Given the description of an element on the screen output the (x, y) to click on. 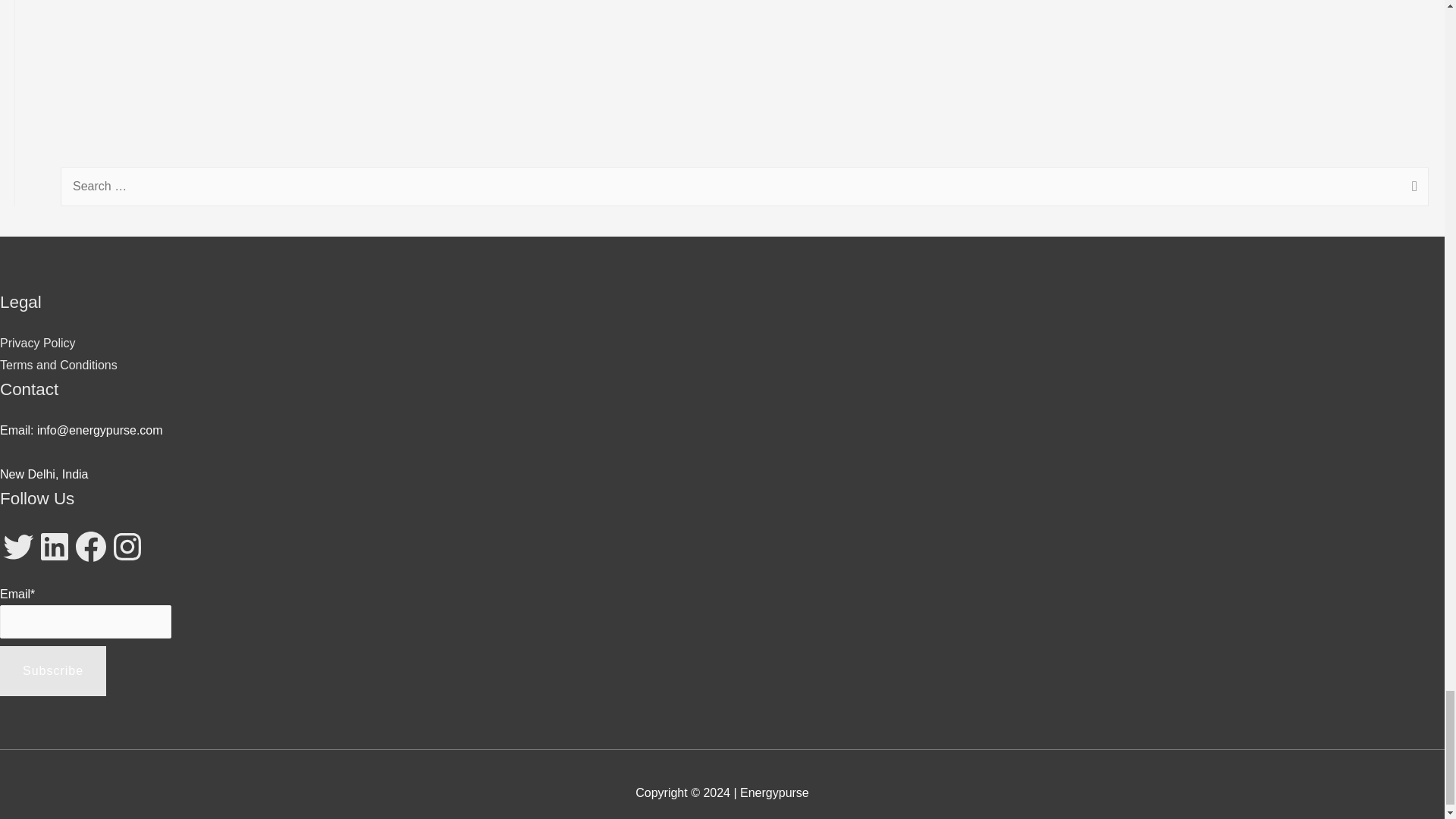
Search (1411, 188)
Subscribe (53, 671)
Search (1411, 188)
